Given the description of an element on the screen output the (x, y) to click on. 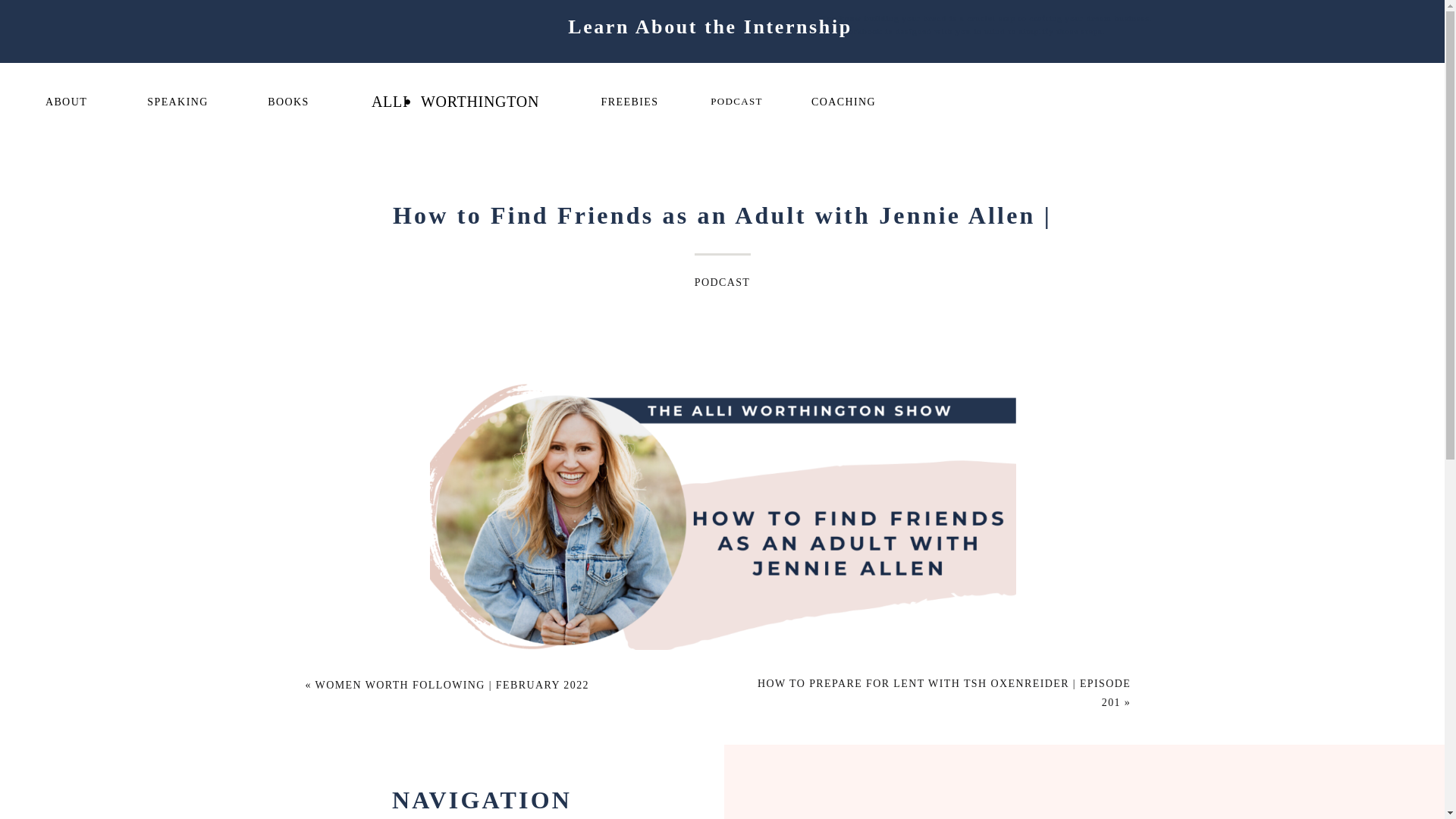
BOOKS (287, 99)
ALLI   WORTHINGTON (455, 103)
ABOUT (65, 99)
PODCAST (736, 99)
SPEAKING (177, 99)
Learn About the Internship (709, 43)
COACHING (843, 99)
FREEBIES (629, 99)
